Given the description of an element on the screen output the (x, y) to click on. 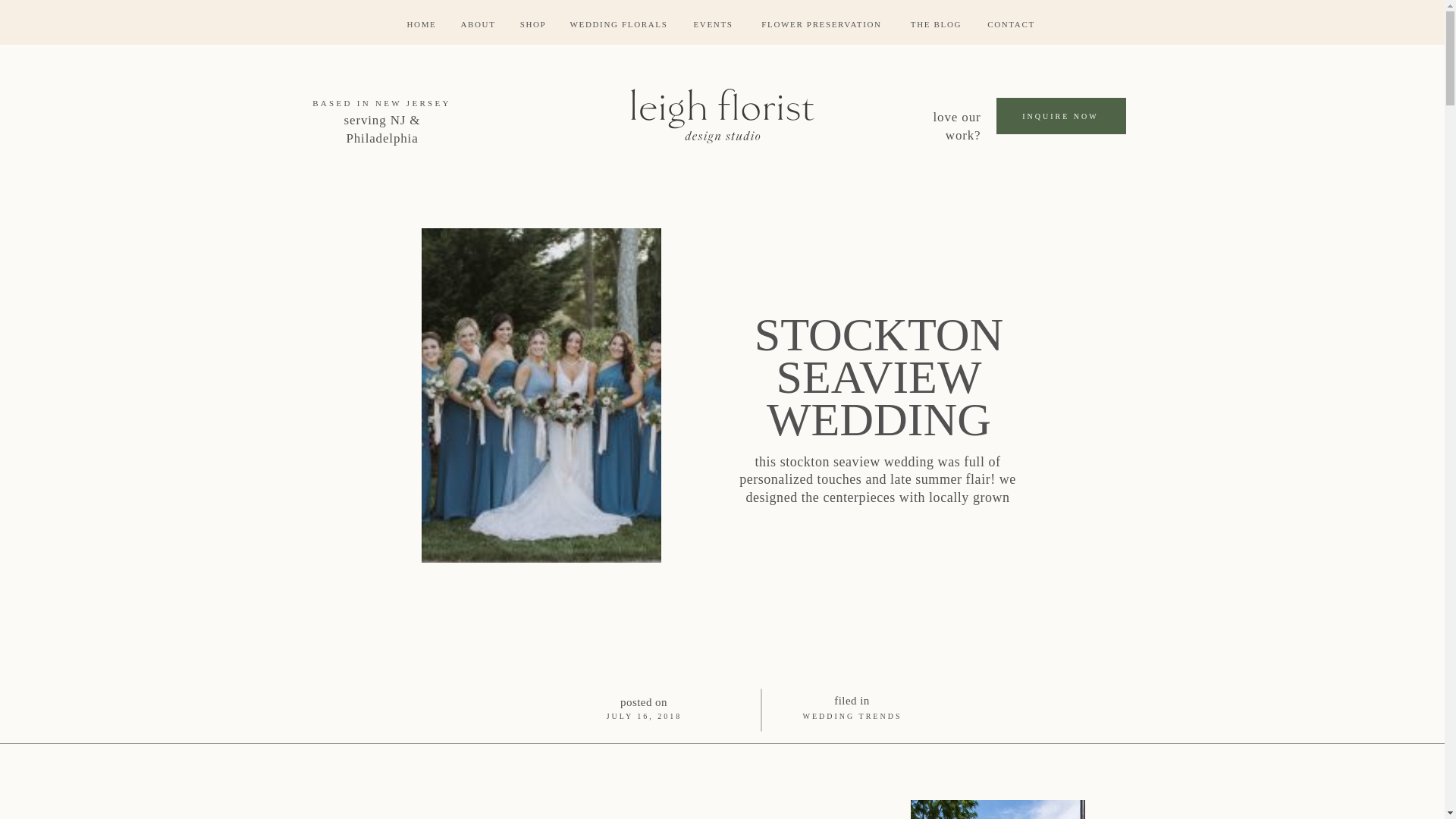
EVENTS (713, 24)
THE BLOG (935, 24)
SHOP (533, 24)
FLOWER PRESERVATION (820, 24)
HOME (422, 24)
WEDDING TRENDS (851, 715)
CONTACT (1011, 24)
ABOUT (478, 24)
INQUIRE NOW (1059, 124)
WEDDING FLORALS (619, 24)
